Given the description of an element on the screen output the (x, y) to click on. 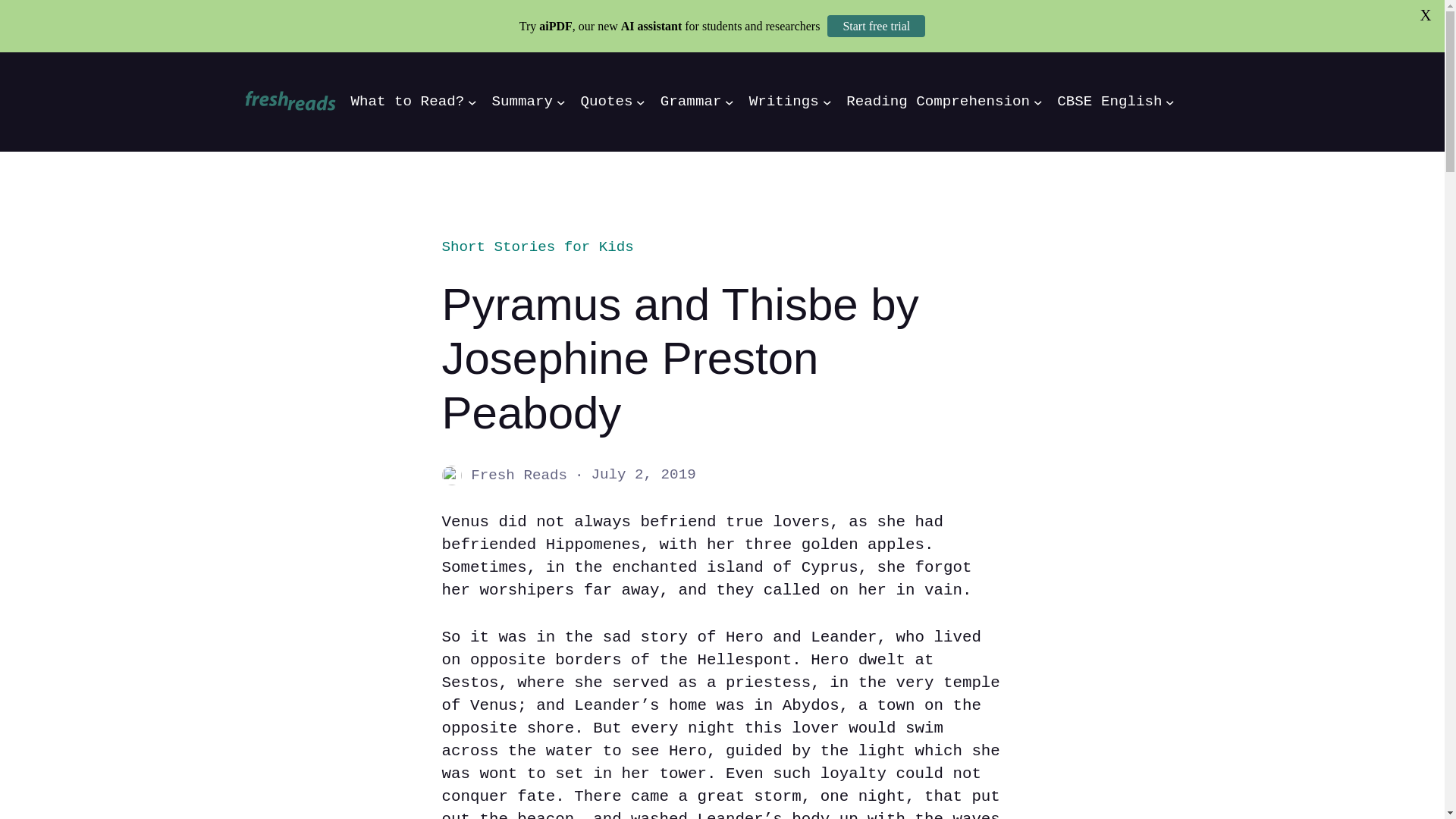
What to Read? (407, 101)
Summary (522, 101)
